Given the description of an element on the screen output the (x, y) to click on. 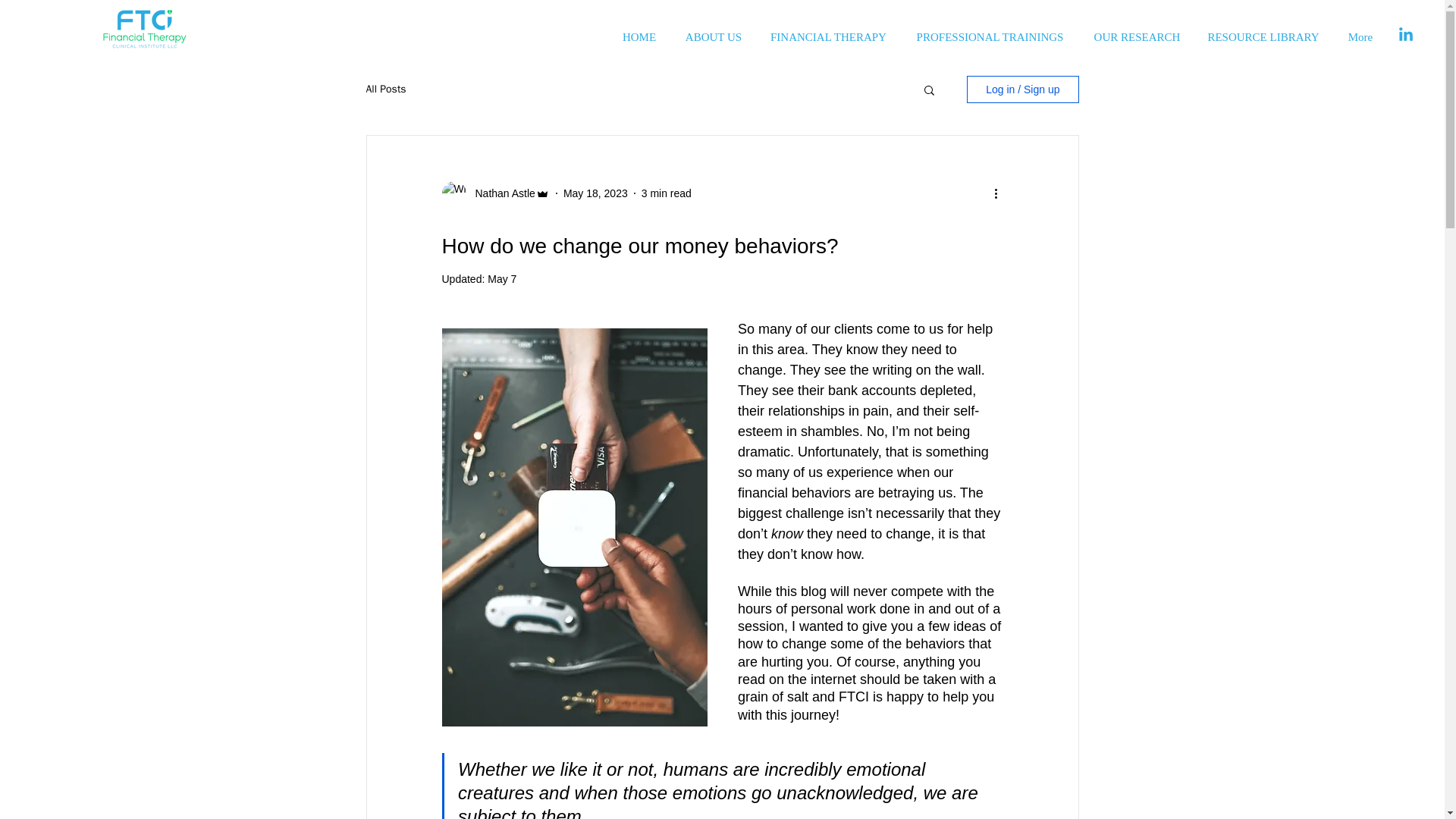
May 18, 2023 (595, 192)
RESOURCE LIBRARY (1262, 30)
FINANCIAL THERAPY (828, 30)
PROFESSIONAL TRAININGS (989, 30)
3 min read (666, 192)
OUR RESEARCH (1136, 30)
ABOUT US (713, 30)
HOME (638, 30)
May 7 (501, 278)
Nathan Astle (499, 192)
